Given the description of an element on the screen output the (x, y) to click on. 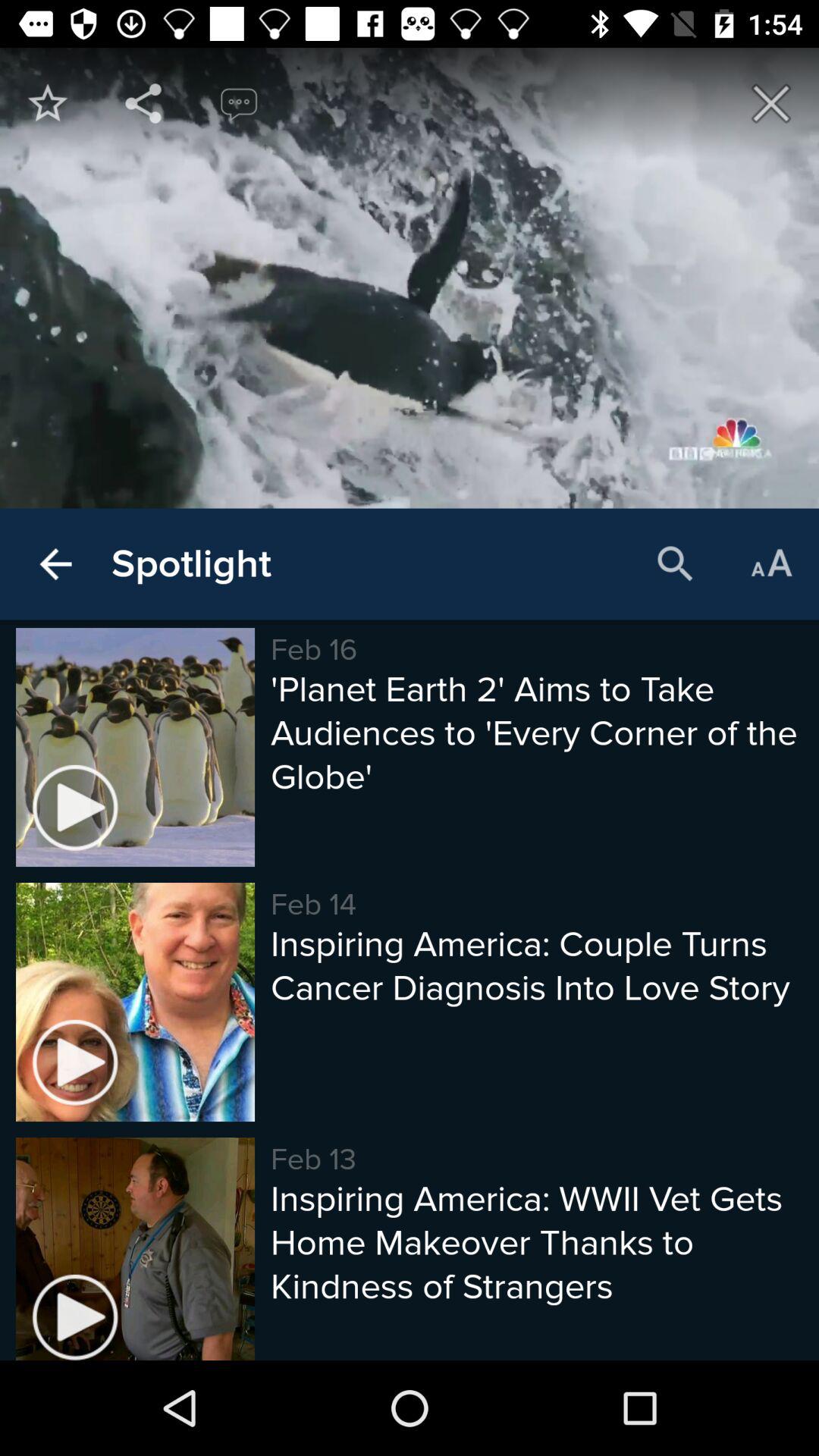
jump to the spotlight (191, 563)
